Given the description of an element on the screen output the (x, y) to click on. 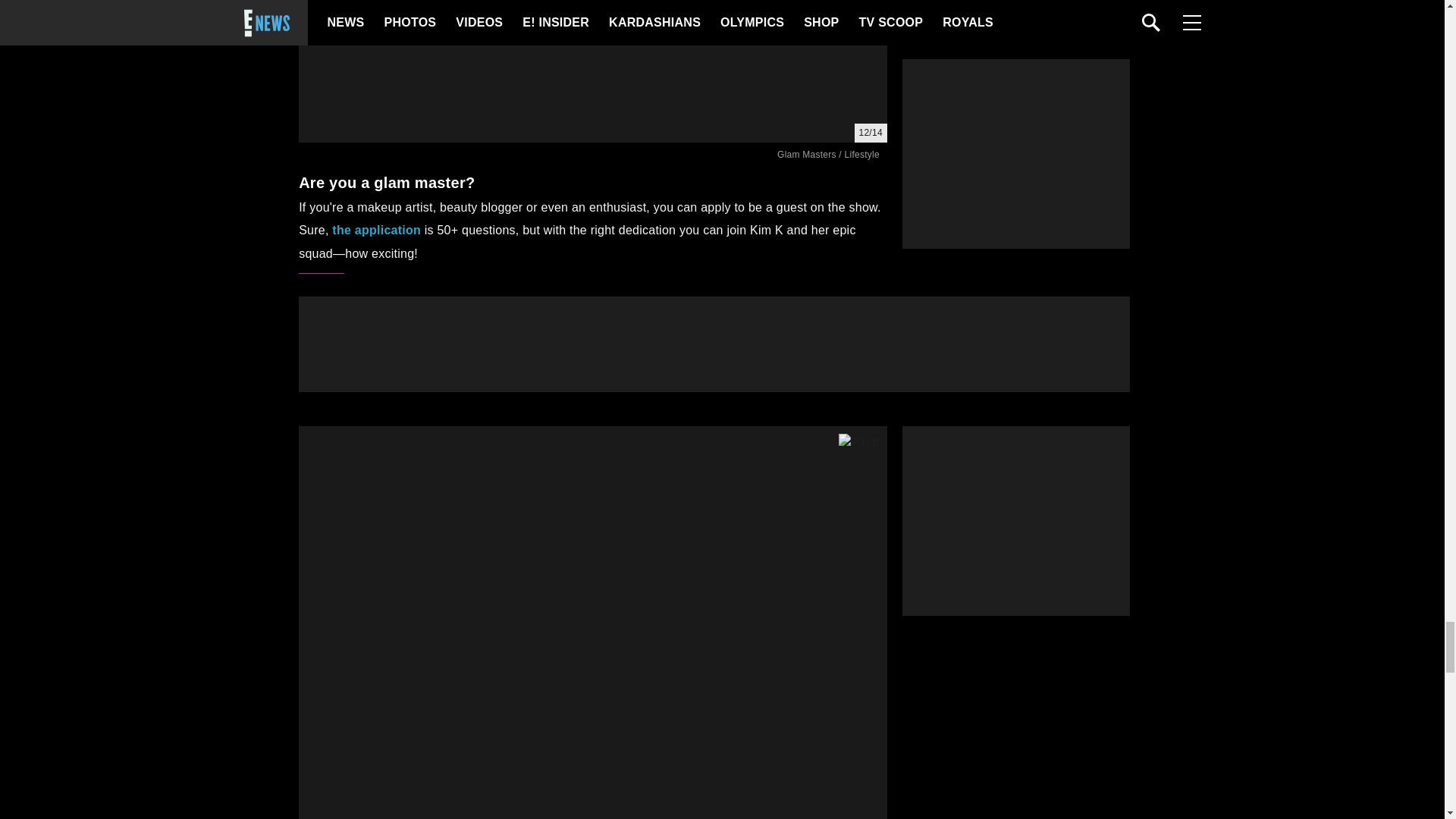
the application (375, 229)
